Given the description of an element on the screen output the (x, y) to click on. 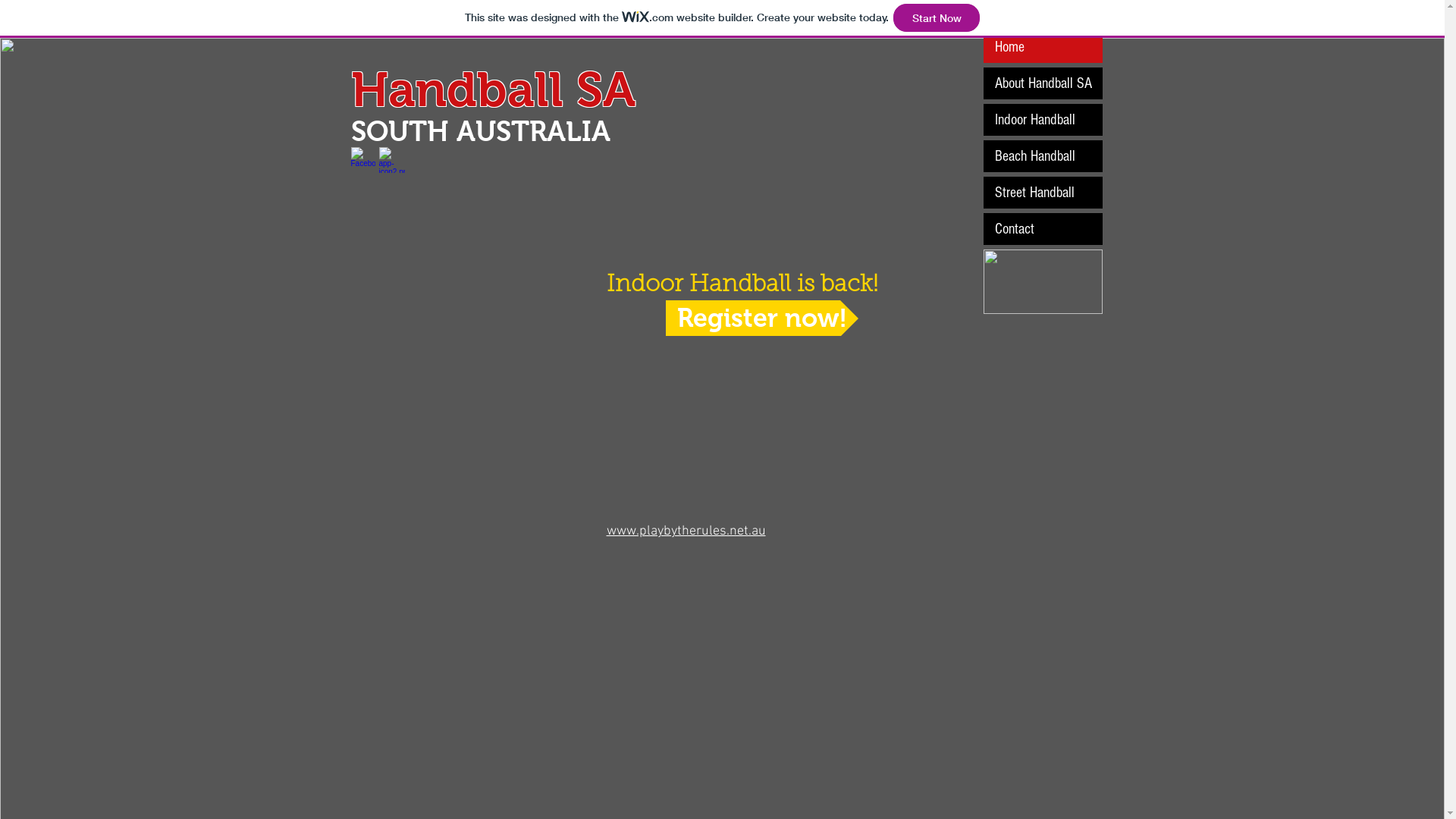
Street Handball Element type: text (1041, 192)
Handball SA Element type: text (492, 89)
Indoor Handball Element type: text (1041, 119)
Beach Handball Element type: text (1041, 156)
Home Element type: text (1041, 46)
Contact Element type: text (1041, 228)
www.playbytherules.net.au Element type: text (685, 531)
Register now! Element type: text (761, 317)
About Handball SA Element type: text (1041, 83)
